Given the description of an element on the screen output the (x, y) to click on. 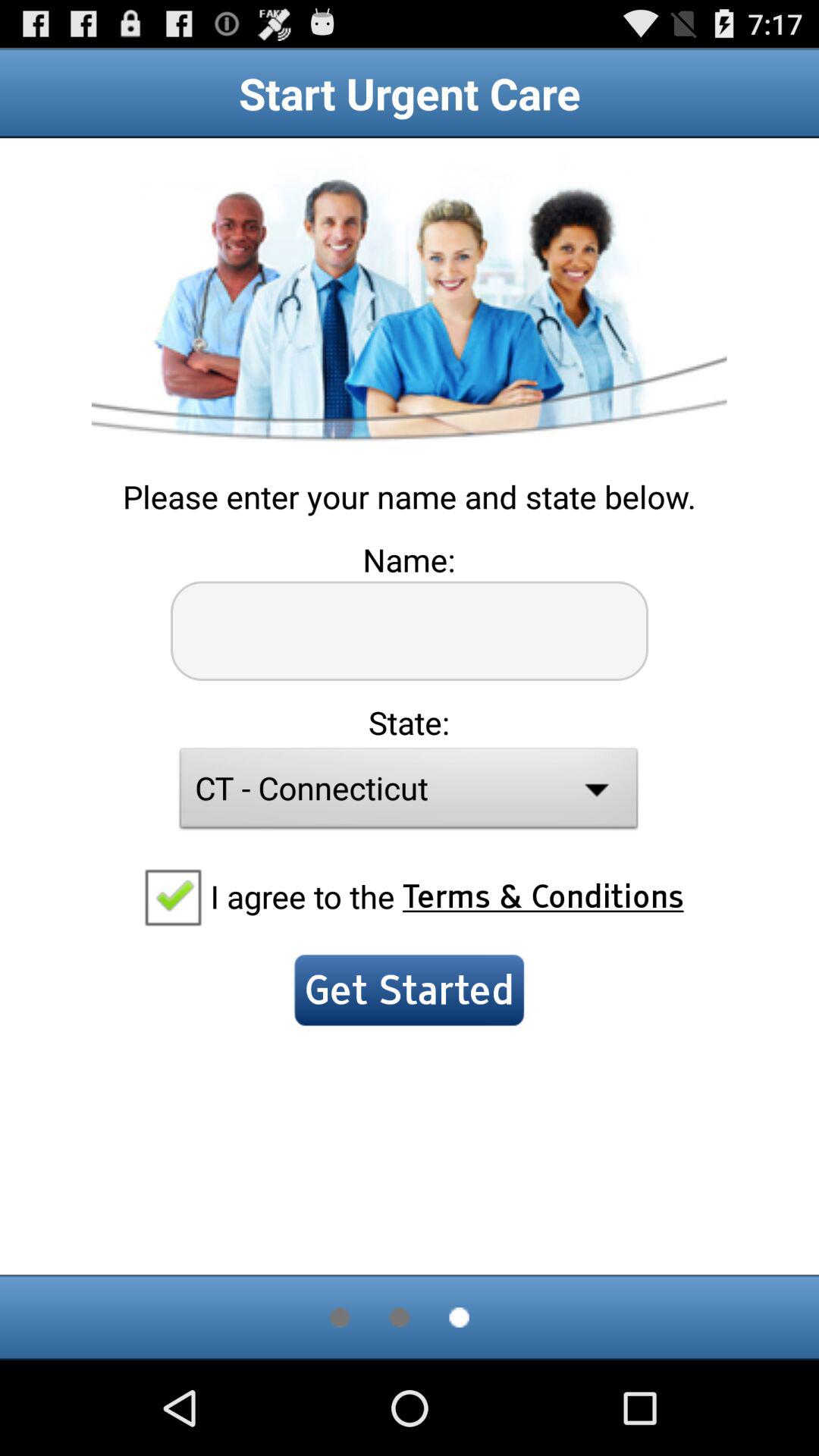
tick the column (172, 896)
